Given the description of an element on the screen output the (x, y) to click on. 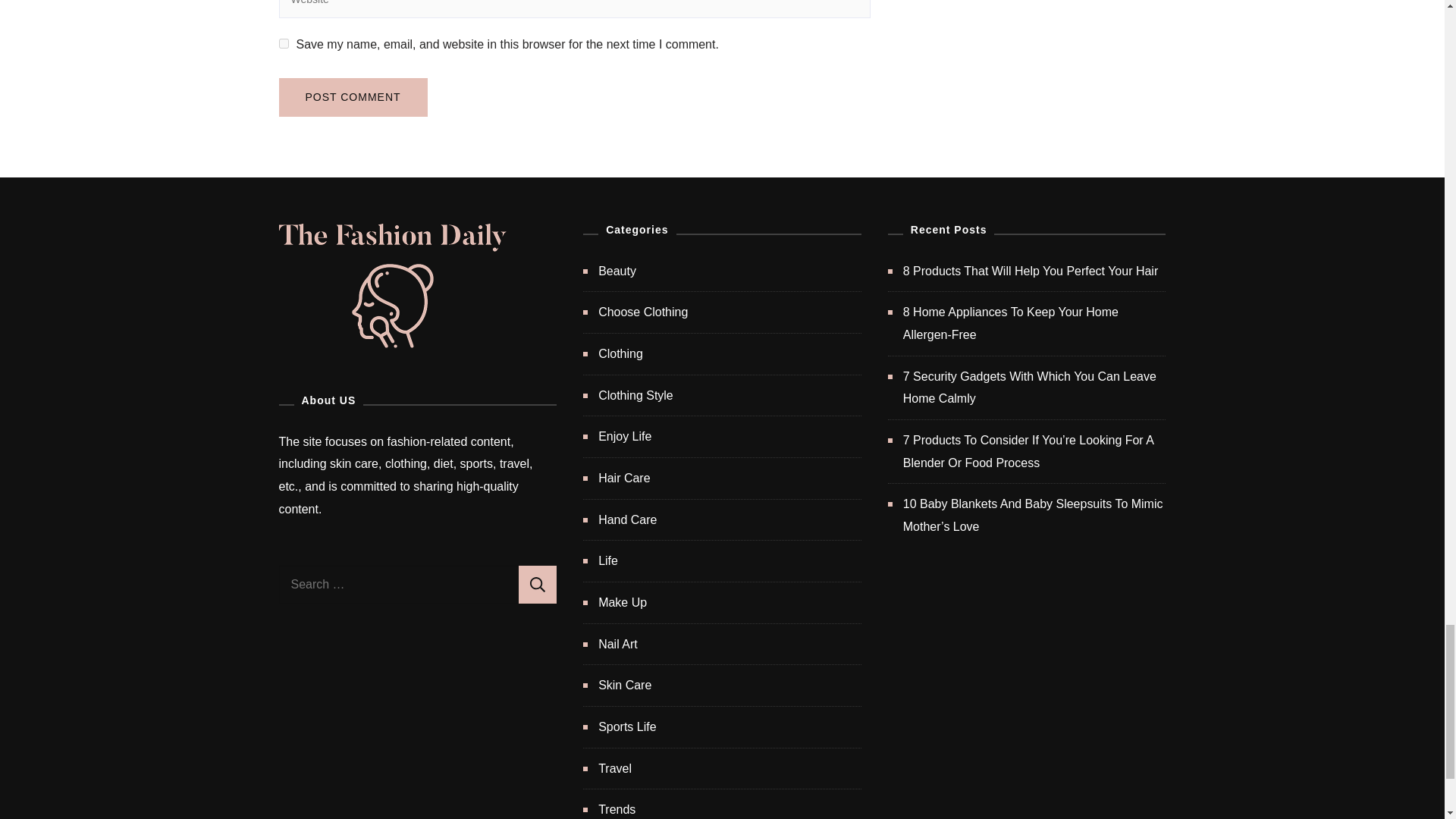
Post Comment (353, 97)
Search (537, 584)
Search (537, 584)
yes (283, 43)
